Given the description of an element on the screen output the (x, y) to click on. 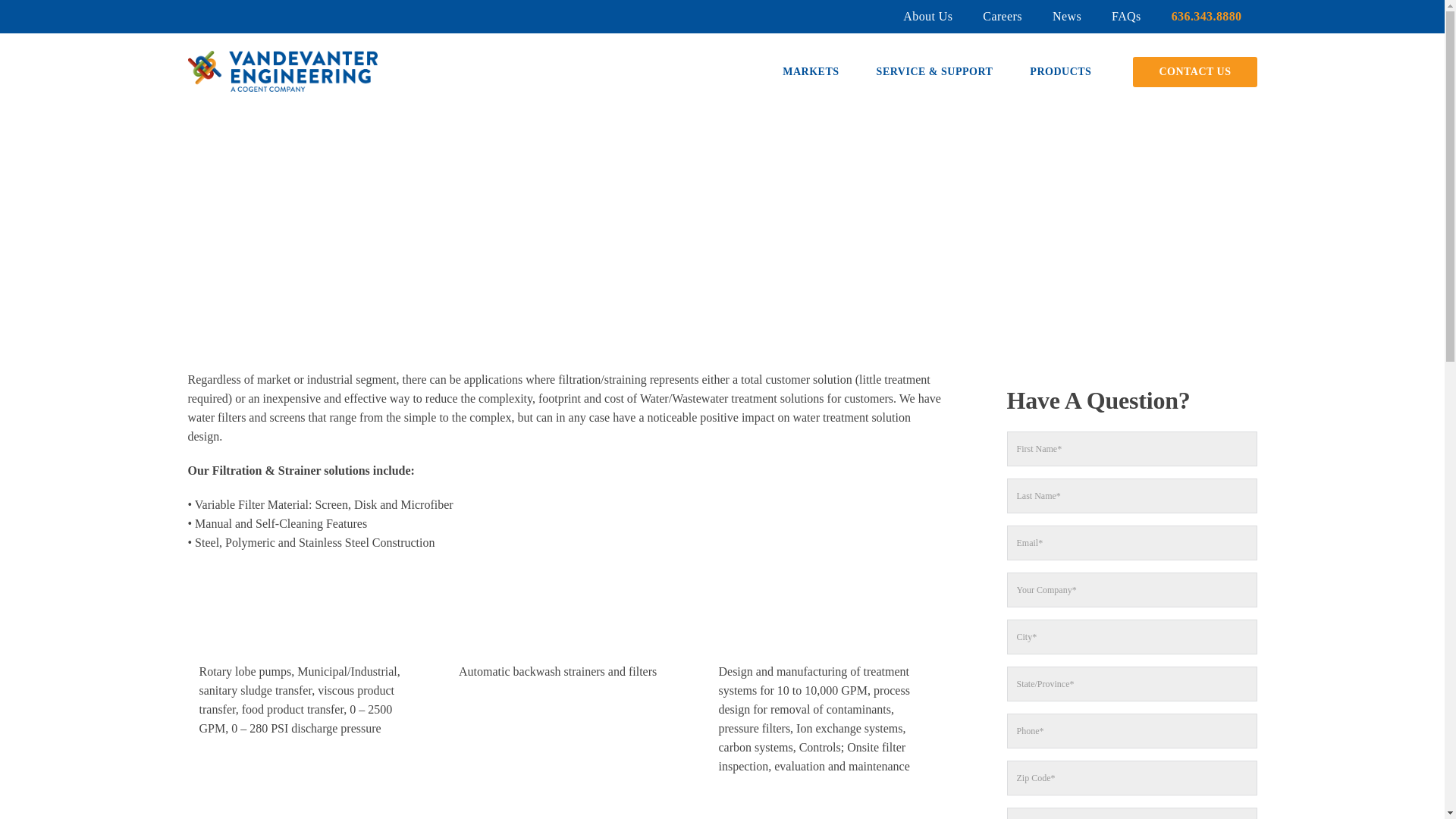
CONTACT US (1194, 71)
PRODUCTS (1060, 71)
FAQs (1126, 16)
News (1066, 16)
Vandevanter Engineering -  (282, 70)
About Us (928, 16)
Careers (1002, 16)
MARKETS (810, 71)
636.343.8880 (1206, 16)
